Given the description of an element on the screen output the (x, y) to click on. 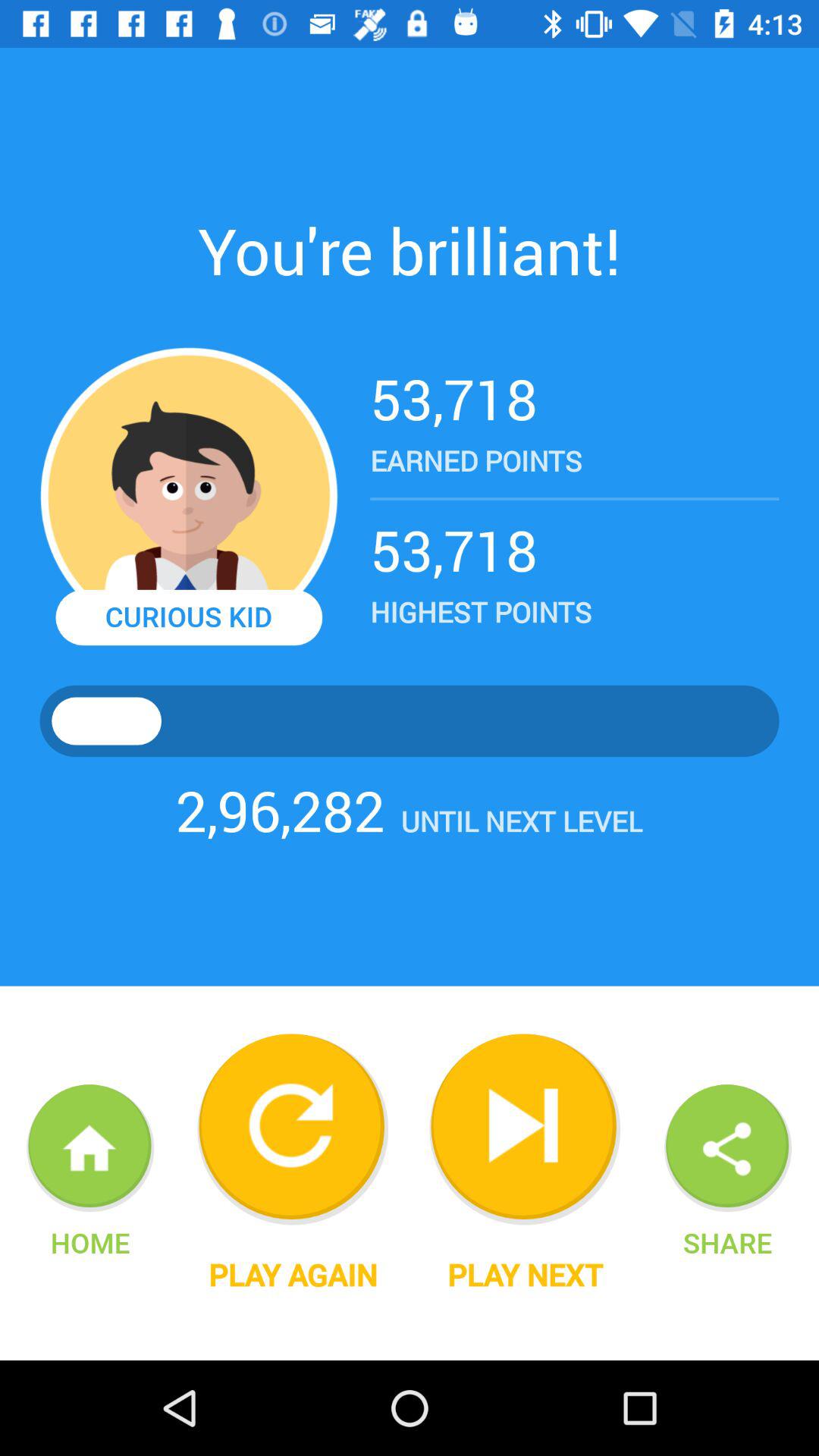
repeat game (292, 1129)
